Given the description of an element on the screen output the (x, y) to click on. 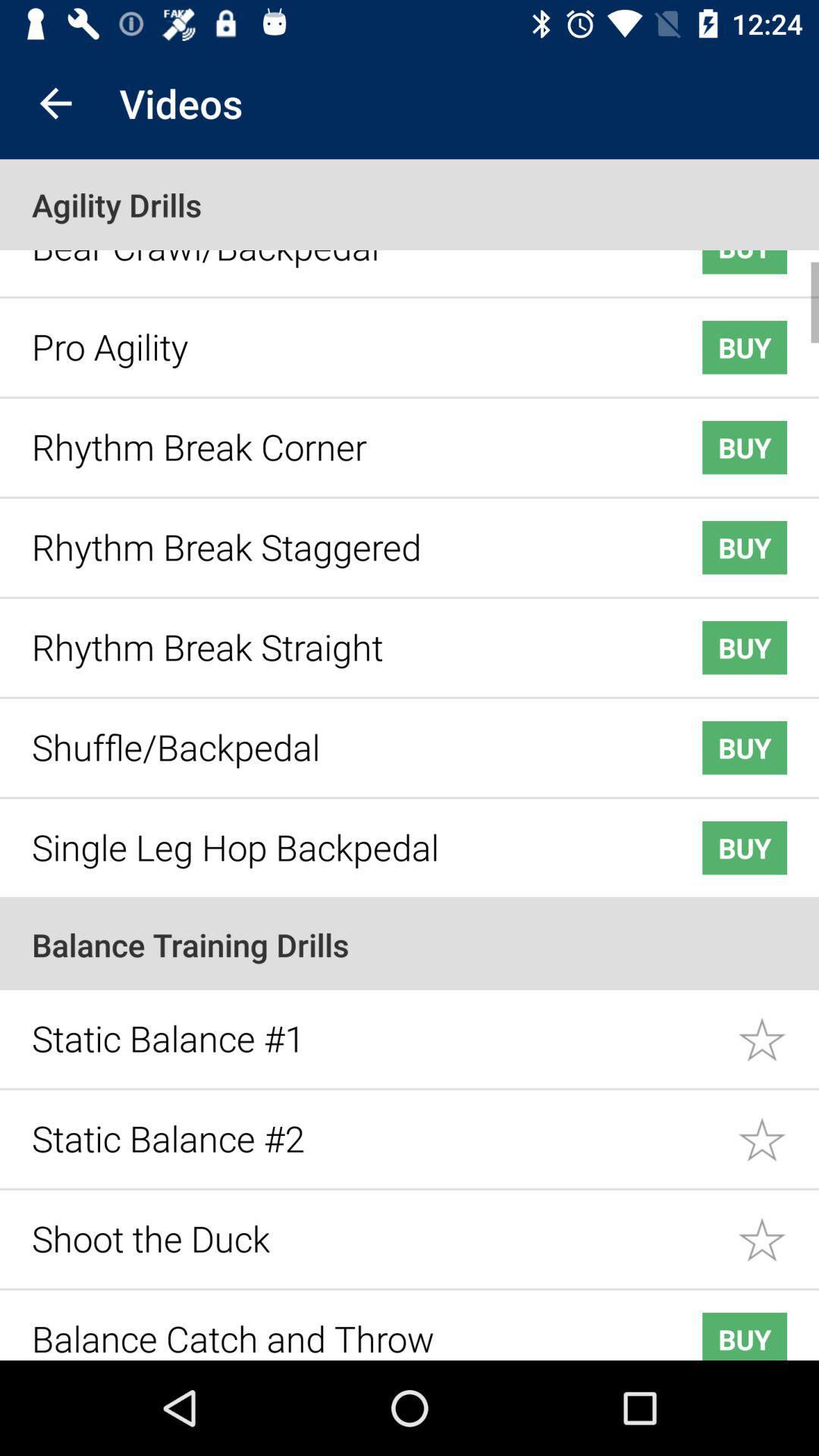
turn on the item next to the buy (342, 1327)
